Given the description of an element on the screen output the (x, y) to click on. 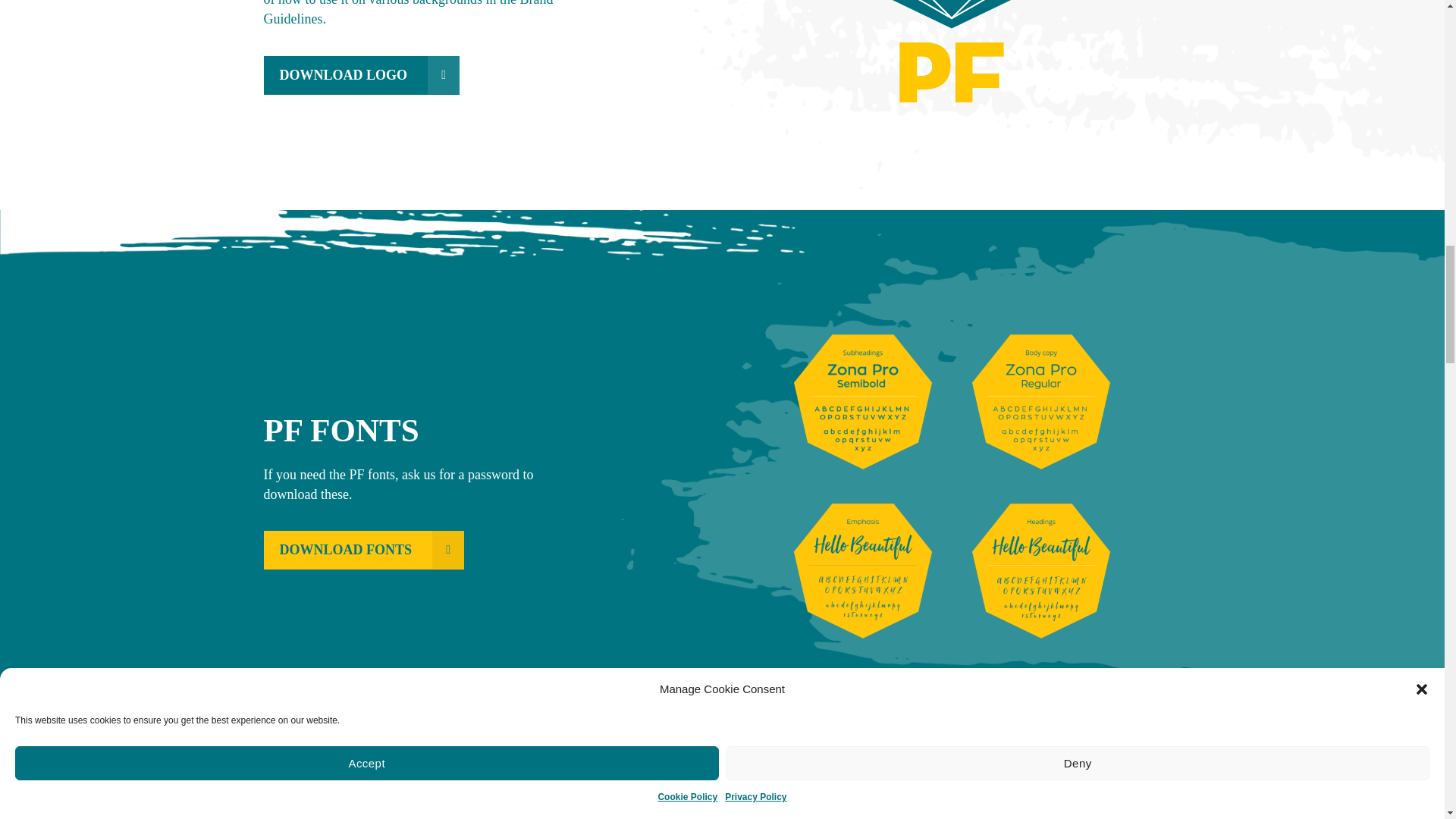
PF Logo (951, 51)
Yellow-Font-Sub-300x300 (862, 401)
